Given the description of an element on the screen output the (x, y) to click on. 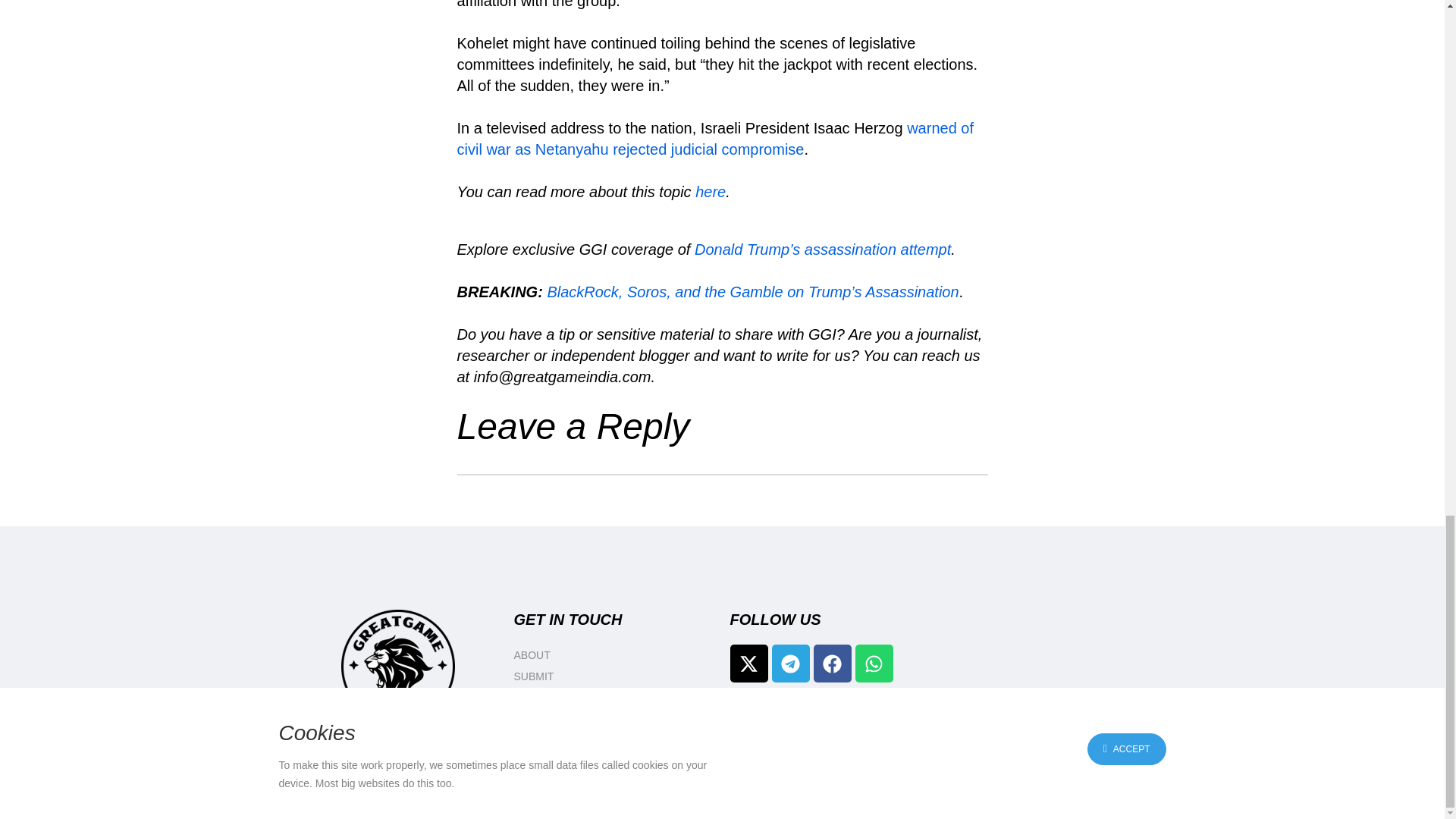
CONTACT US (613, 718)
SUBMIT (613, 676)
PRIVACY POLICY (613, 740)
ABOUT (613, 654)
here (710, 191)
